Given the description of an element on the screen output the (x, y) to click on. 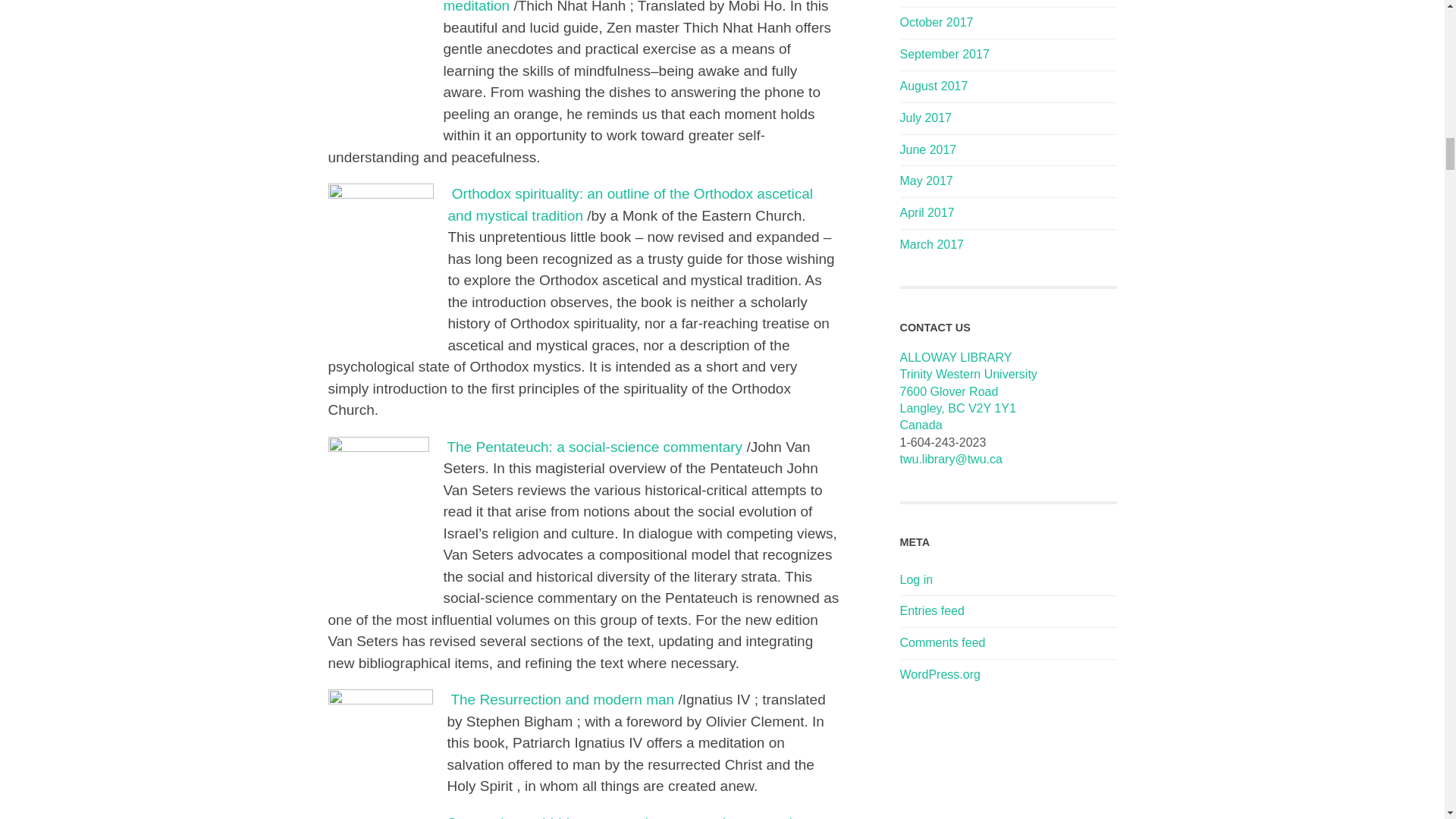
The Resurrection and modern man (563, 699)
The Pentateuch: a social-science commentary (594, 446)
